Given the description of an element on the screen output the (x, y) to click on. 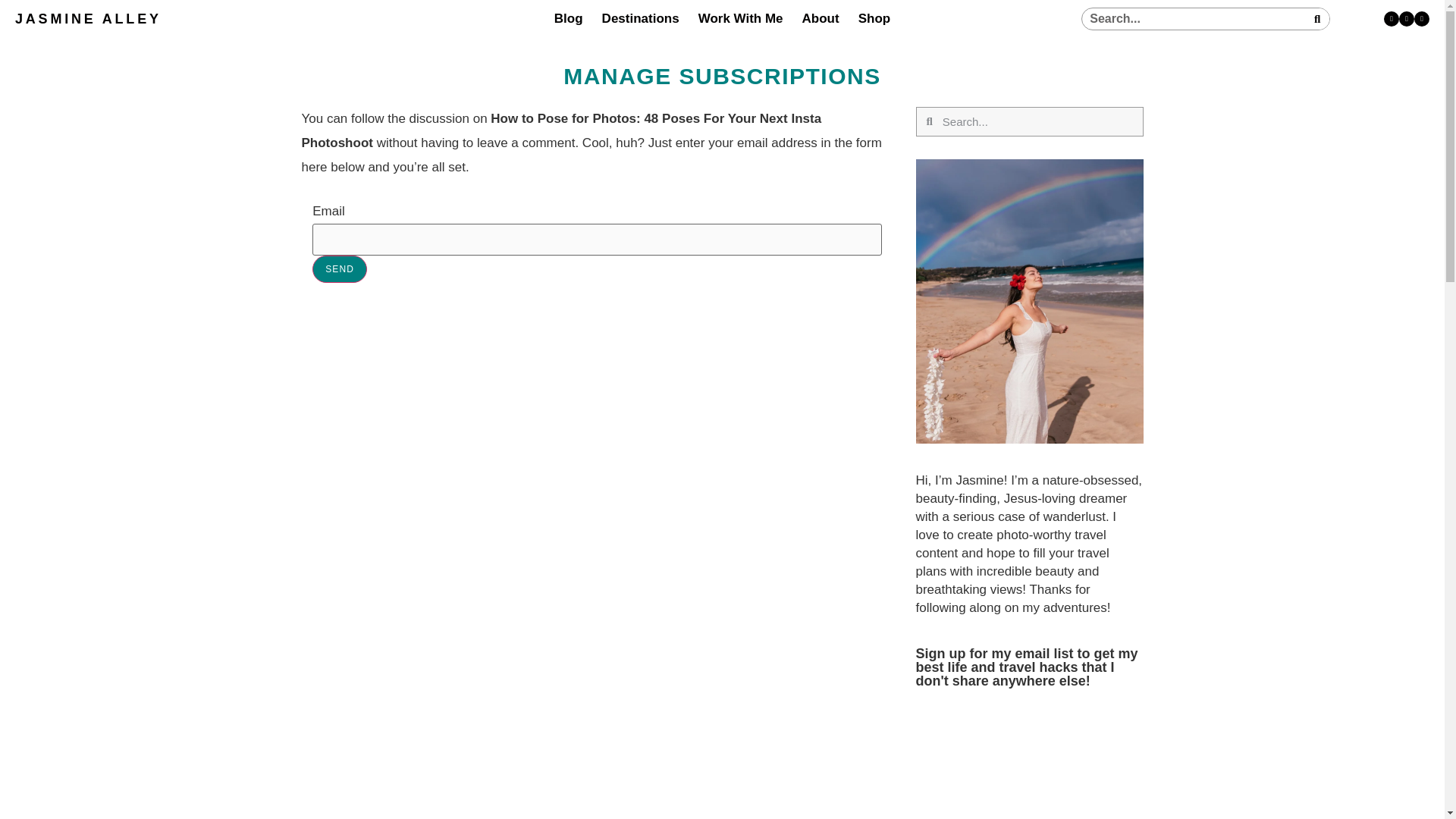
Destinations (640, 18)
Blog (568, 18)
Send (339, 268)
JASMINE ALLEY (87, 18)
